Given the description of an element on the screen output the (x, y) to click on. 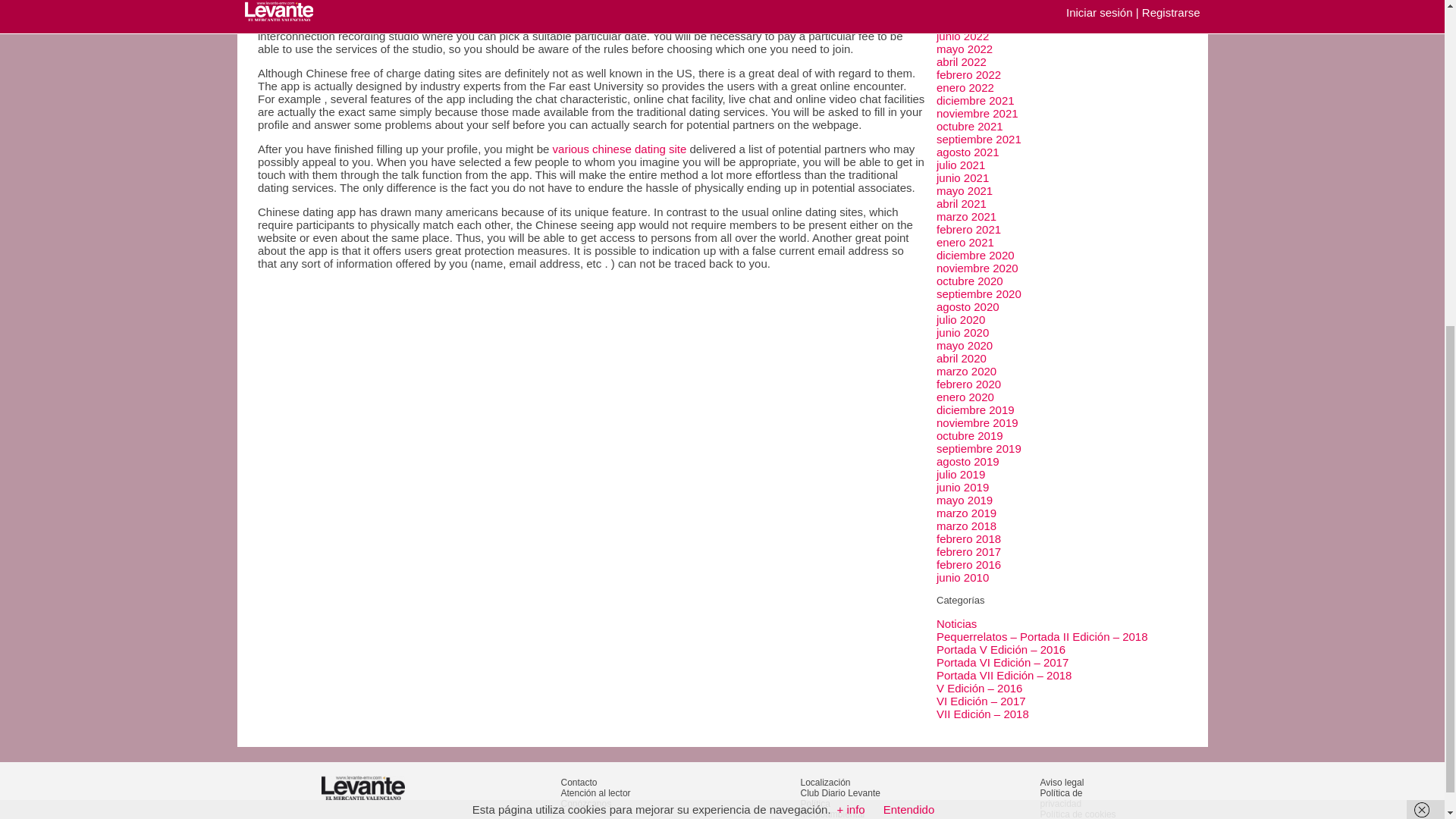
diciembre 2021 (975, 100)
Club Diario Levante (840, 792)
agosto 2022 (967, 10)
abril 2022 (961, 61)
noviembre 2021 (976, 113)
junio 2022 (962, 35)
octubre 2021 (969, 125)
mayo 2022 (964, 48)
enero 2022 (965, 87)
febrero 2022 (968, 74)
julio 2022 (960, 22)
Contacto (578, 782)
various chinese dating site (620, 148)
Aviso Legal (1062, 782)
